Given the description of an element on the screen output the (x, y) to click on. 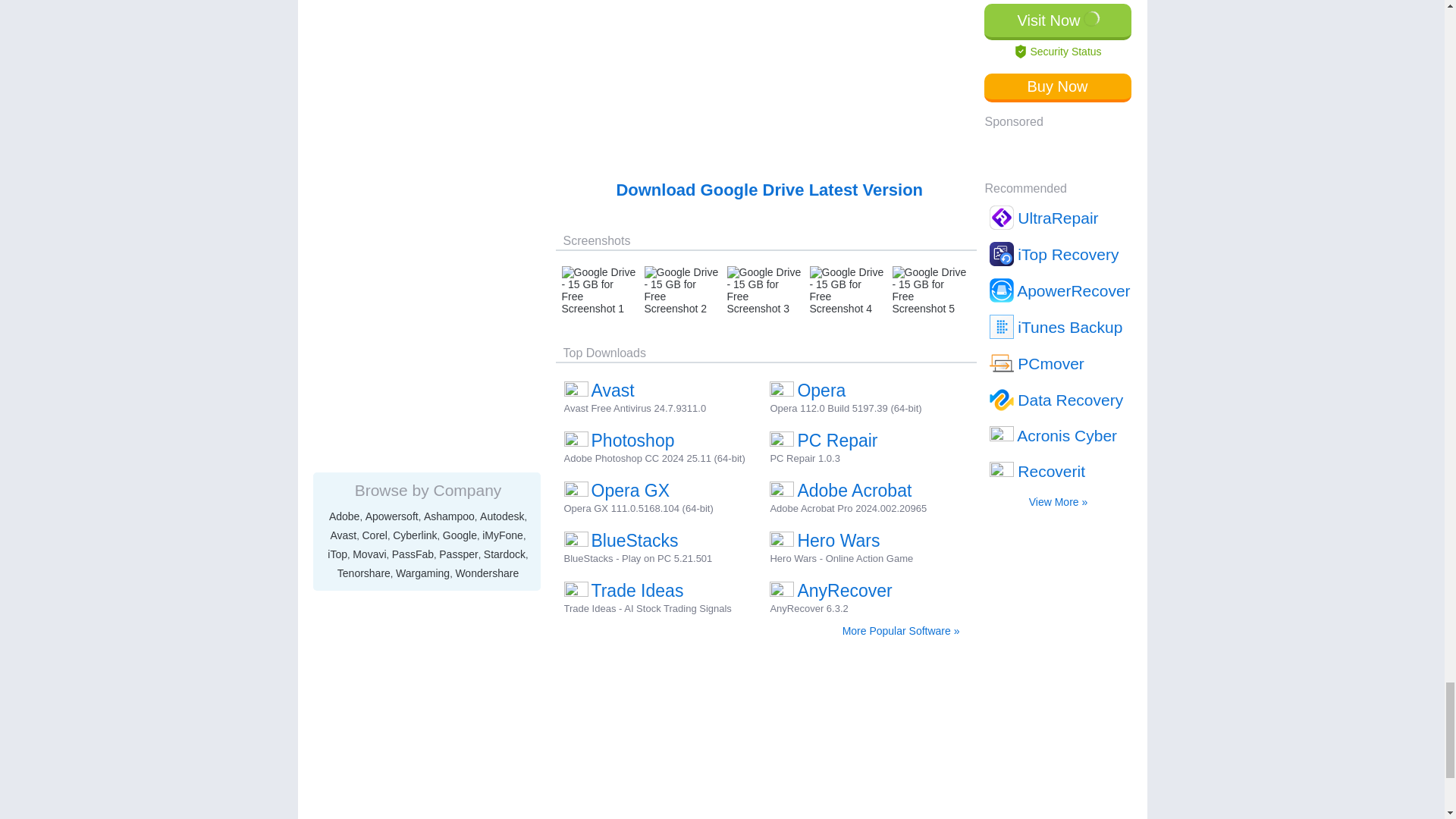
Download Google Drive - 15 GB for Free for Free (769, 189)
